Given the description of an element on the screen output the (x, y) to click on. 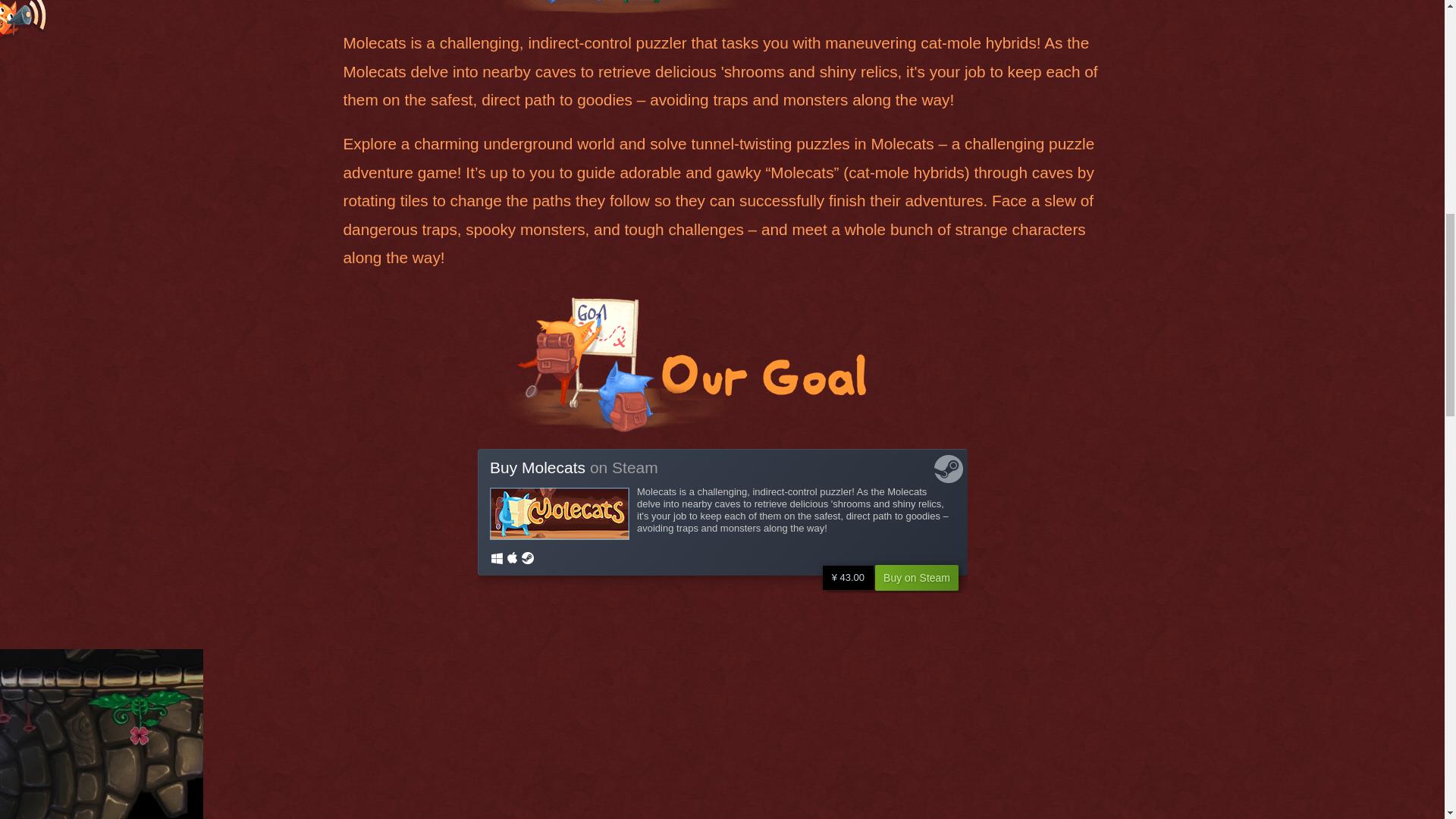
Molecats on Discord (30, 23)
Support Molecats! (684, 360)
About Molecats! (684, 6)
